Given the description of an element on the screen output the (x, y) to click on. 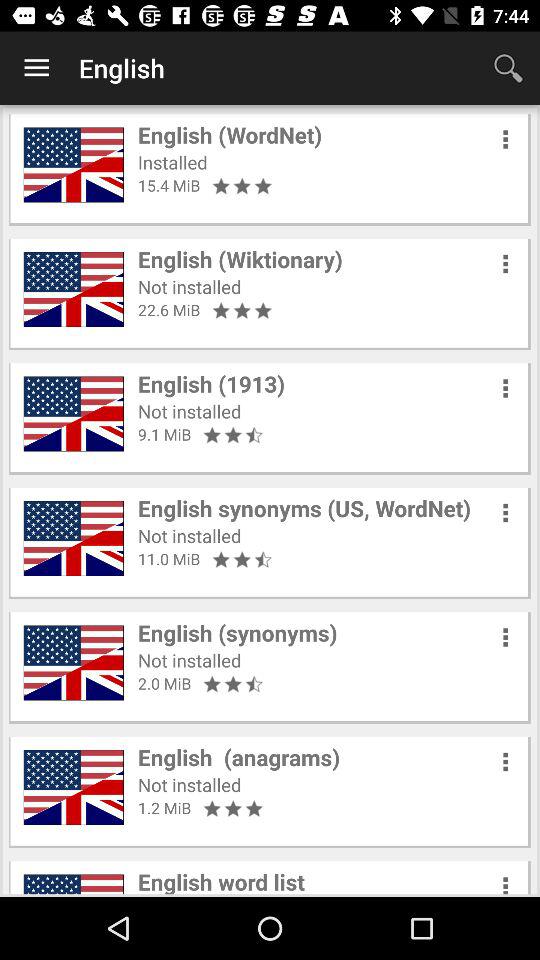
choose the item below the installed item (169, 185)
